Given the description of an element on the screen output the (x, y) to click on. 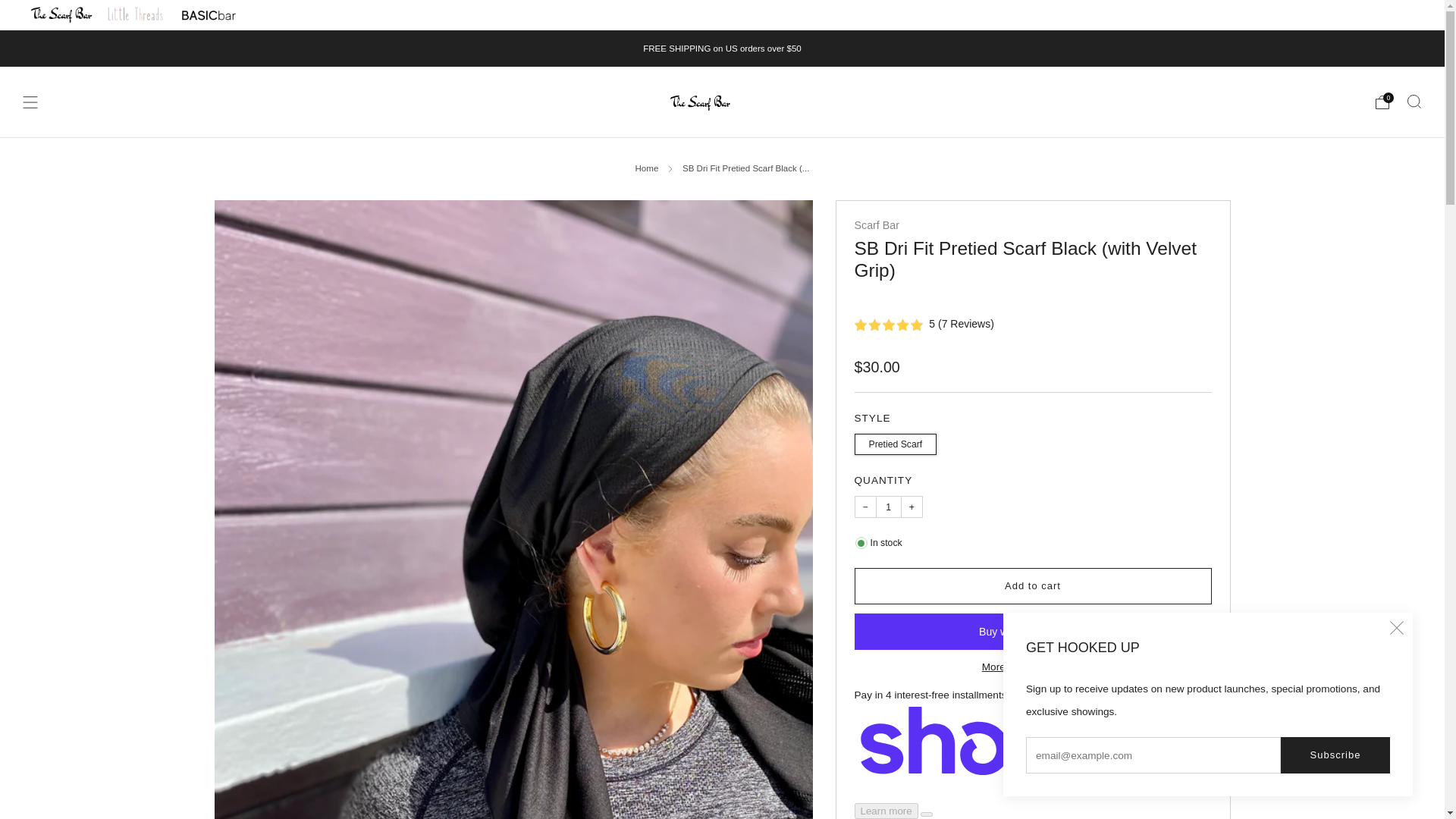
0 (1382, 102)
1 (888, 506)
Home (646, 167)
Pretied Scarf (896, 440)
Scarf Bar (875, 224)
